Given the description of an element on the screen output the (x, y) to click on. 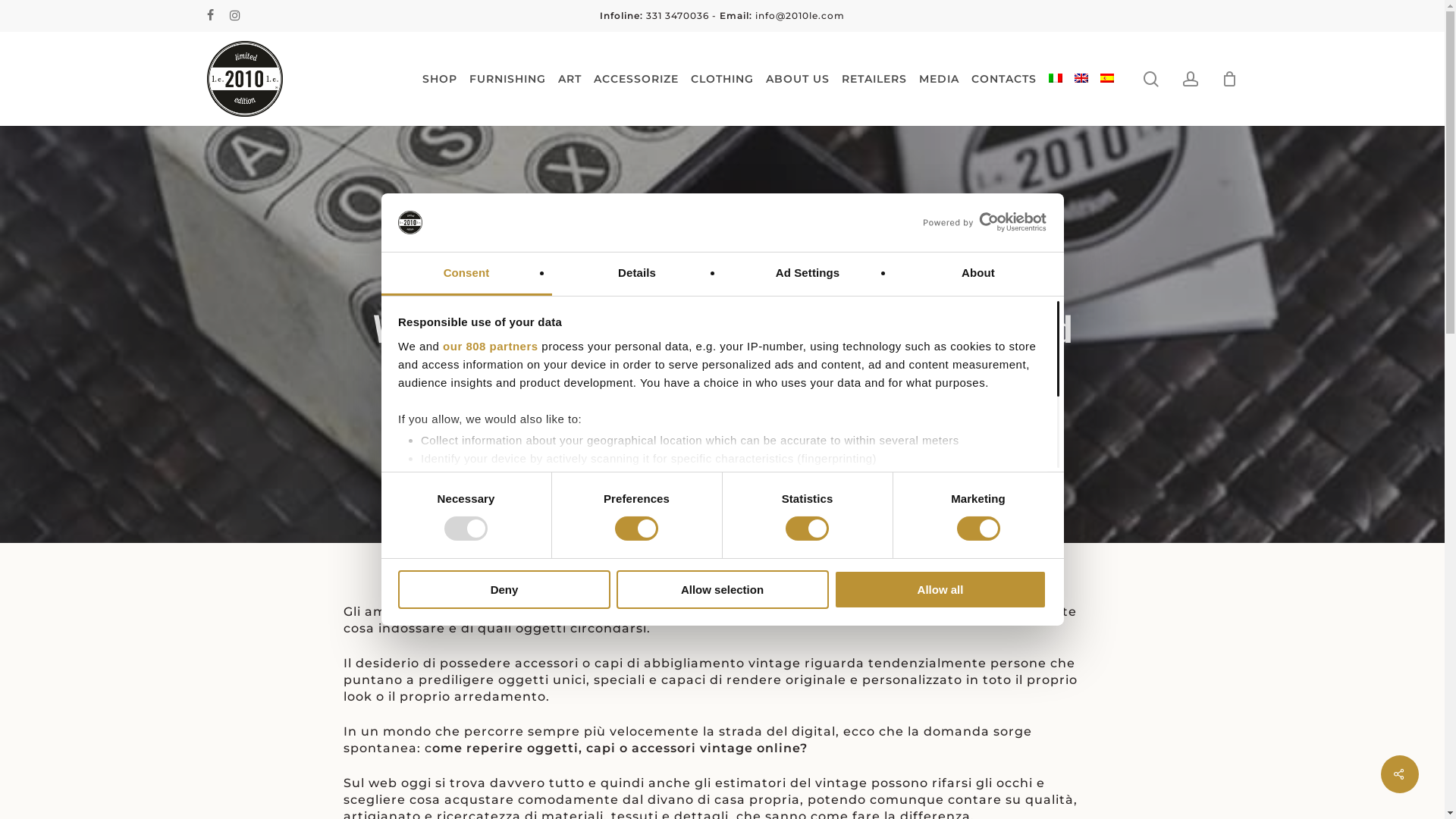
About Element type: text (978, 273)
Deny Element type: text (504, 589)
2010 Blog Element type: text (721, 279)
ABOUT US Element type: text (797, 78)
Allow selection Element type: text (721, 589)
SHOP Element type: text (438, 78)
info@2010le.com Element type: text (799, 15)
ACCESSORIZE Element type: text (635, 78)
instagram Element type: text (234, 15)
CLOTHING Element type: text (721, 78)
search Element type: text (1151, 79)
RETAILERS Element type: text (873, 78)
Details Element type: text (637, 273)
Ad Settings Element type: text (806, 273)
ART Element type: text (569, 78)
details section Element type: text (926, 478)
facebook Element type: text (209, 15)
our 808 partners Element type: text (490, 345)
Consent Element type: text (465, 273)
CONTACTS Element type: text (1002, 78)
FURNISHING Element type: text (506, 78)
account Element type: text (1190, 79)
331 3470036 Element type: text (677, 15)
MEDIA Element type: text (939, 78)
Allow all Element type: text (940, 589)
